Given the description of an element on the screen output the (x, y) to click on. 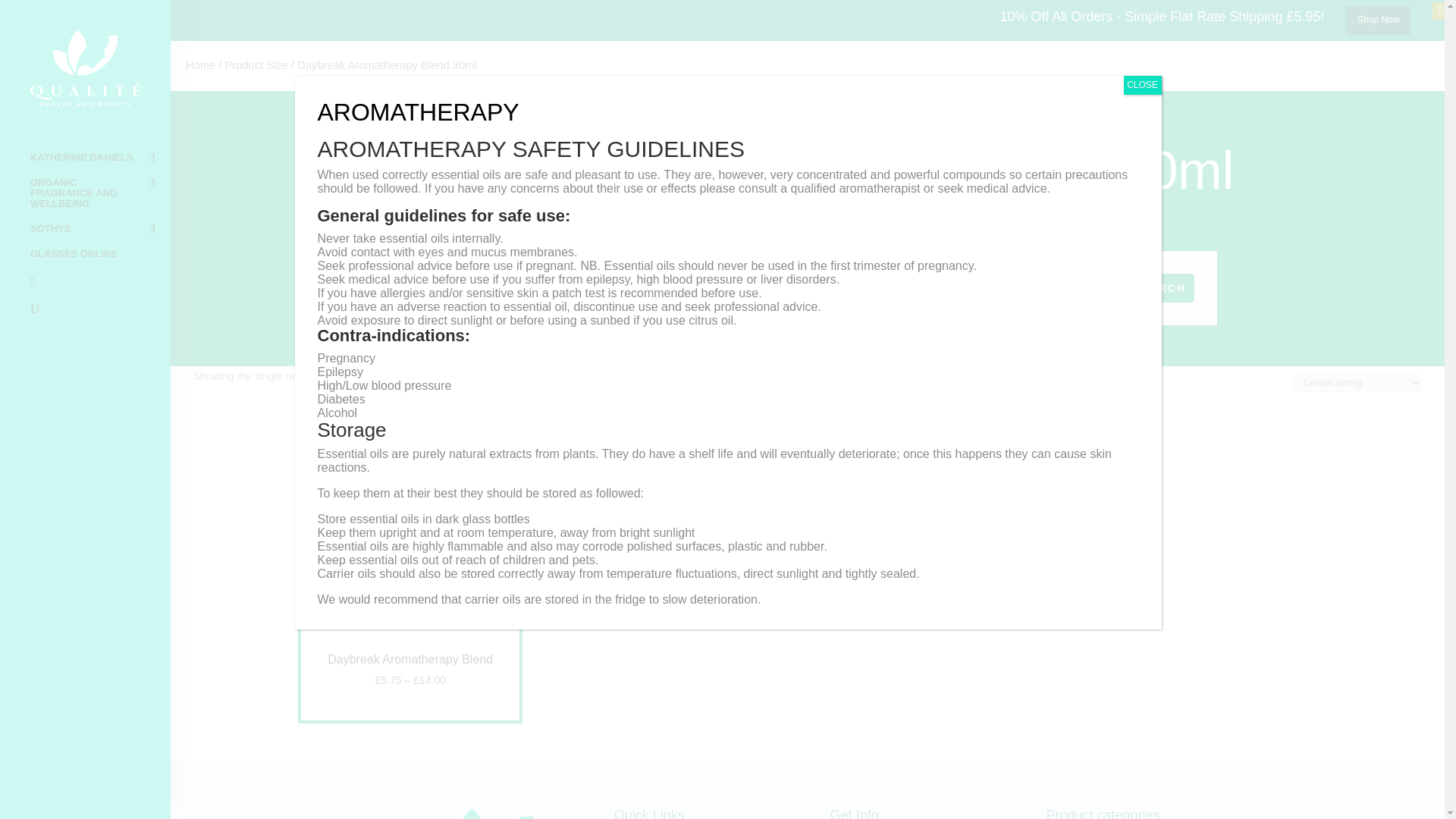
GLASSES ONLINE (100, 260)
Search (1158, 288)
KATHERINE DANIELS (100, 164)
ORGANIC FRAGRANCE AND WELLBEING (100, 200)
Search (1158, 288)
SOTHYS (100, 235)
